Given the description of an element on the screen output the (x, y) to click on. 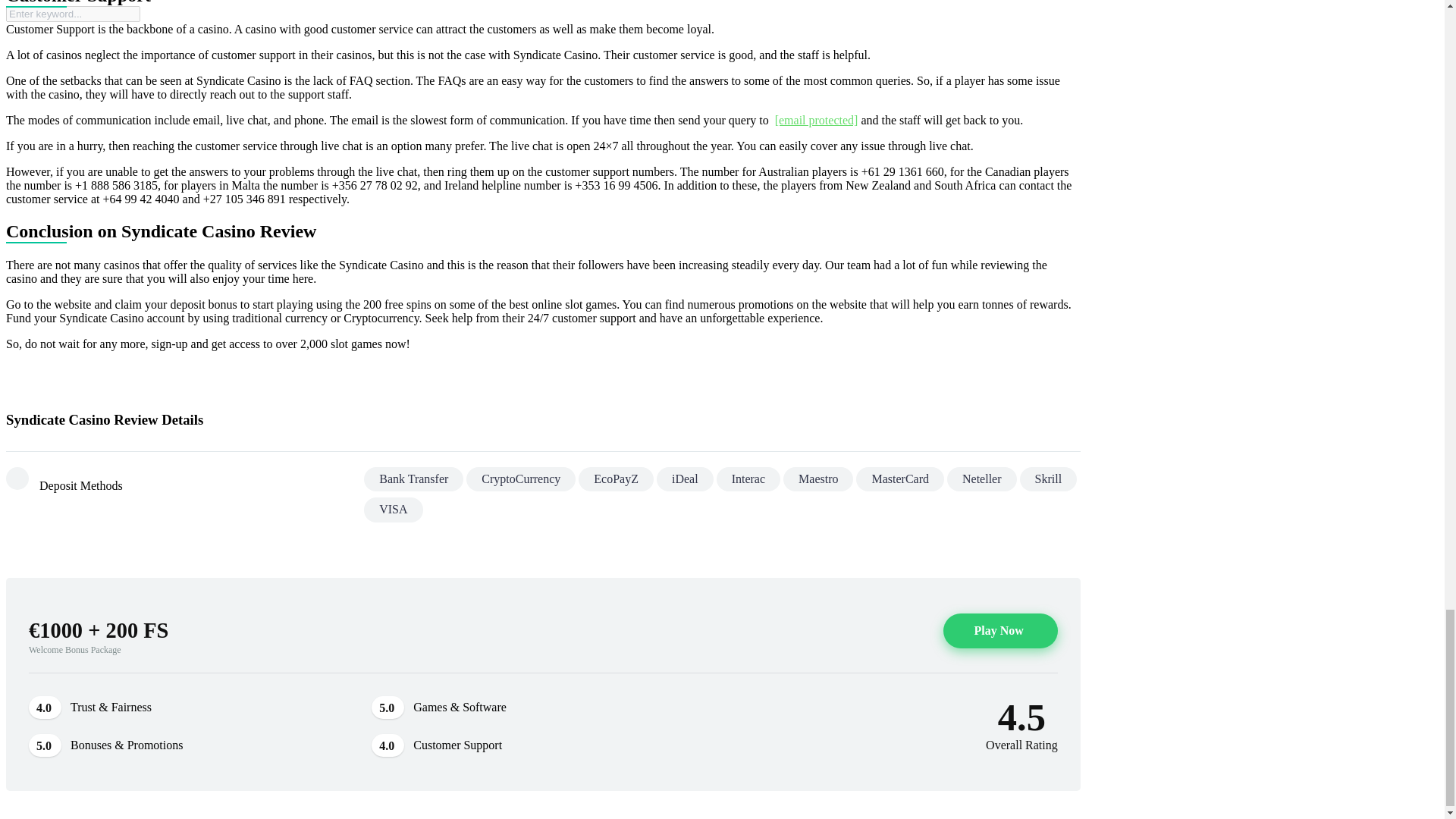
MasterCard (899, 478)
CryptoCurrency (520, 478)
Maestro (818, 478)
EcoPayZ (615, 478)
Skrill (1048, 478)
Neteller (981, 478)
VISA (393, 509)
Interac (748, 478)
iDeal (684, 478)
Bank Transfer (413, 478)
Play Now (1000, 630)
